Given the description of an element on the screen output the (x, y) to click on. 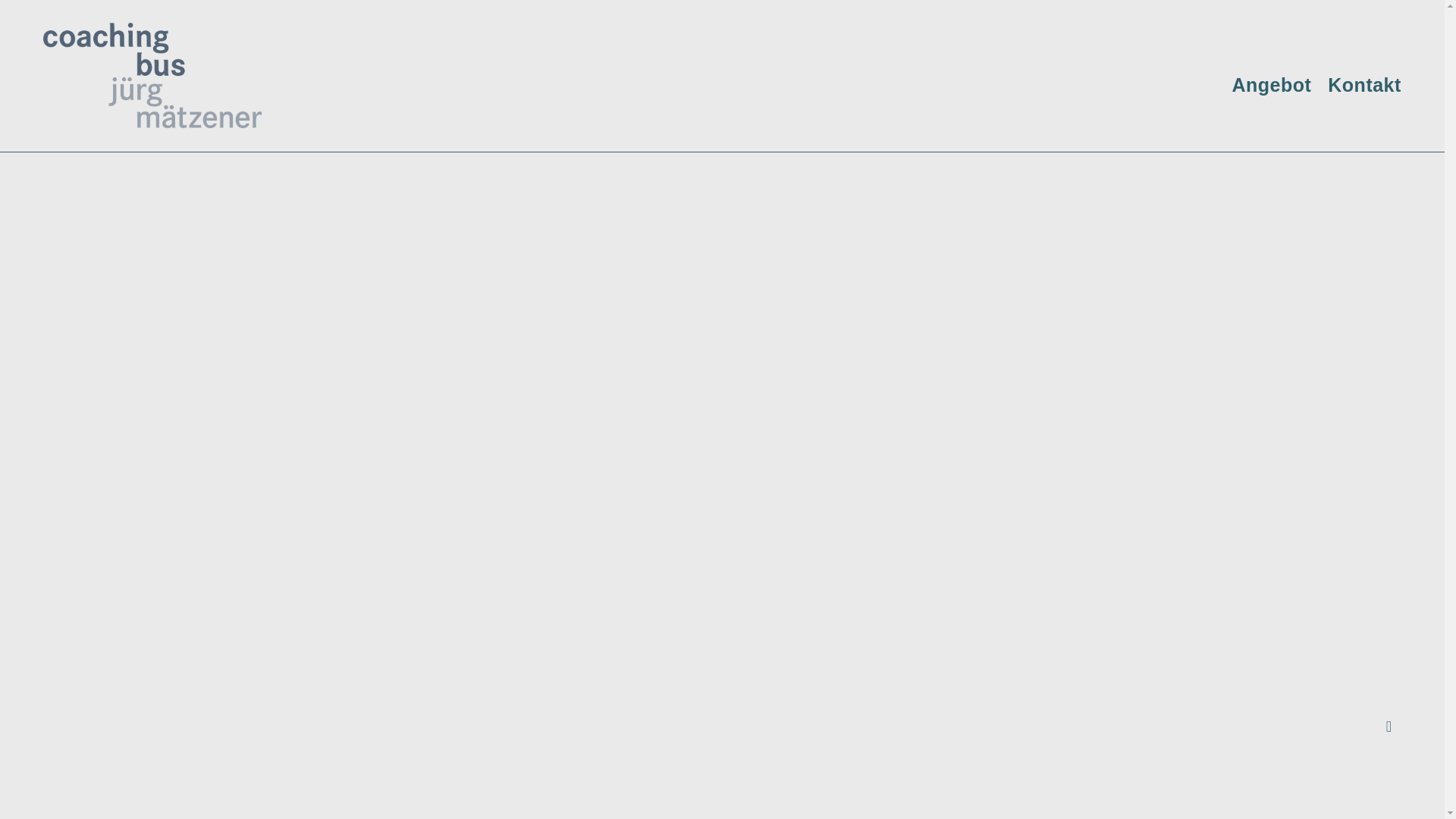
Kontakt Element type: text (1364, 84)
Angebot Element type: text (1271, 84)
